Given the description of an element on the screen output the (x, y) to click on. 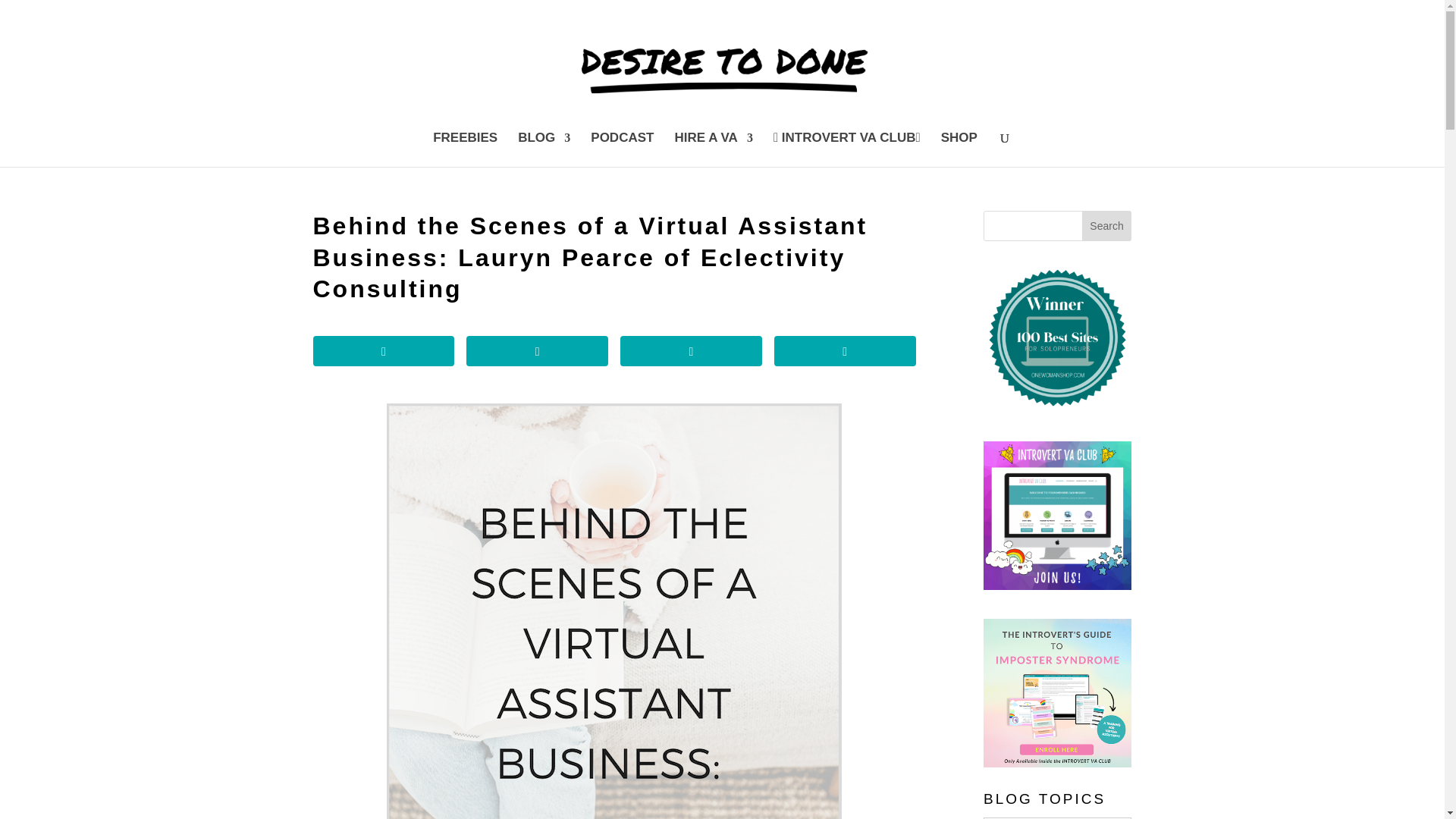
Search (1106, 225)
FREEBIES (464, 149)
PODCAST (622, 149)
SHOP (958, 149)
HIRE A VA (713, 149)
BLOG (544, 149)
